Given the description of an element on the screen output the (x, y) to click on. 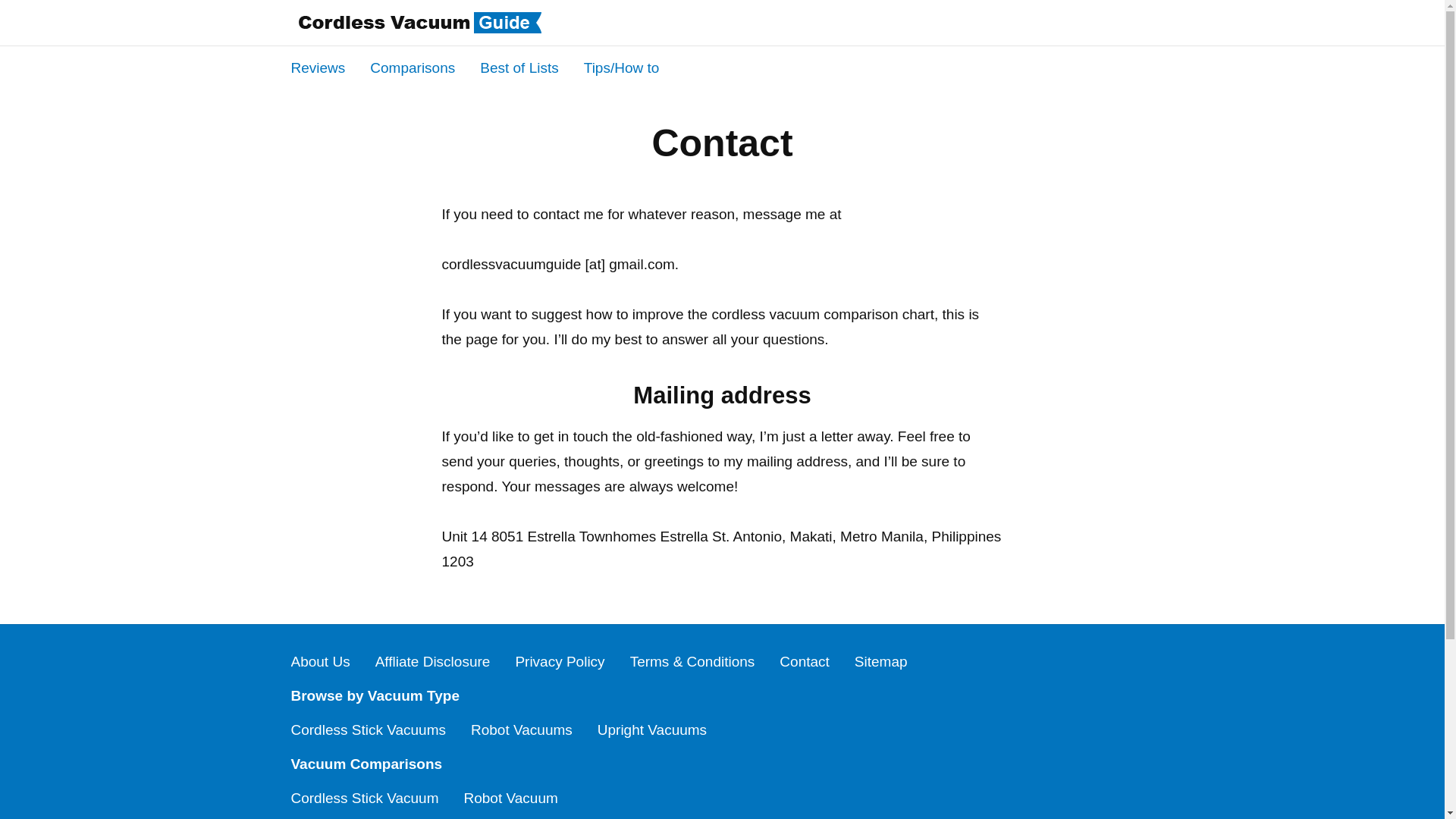
Robot Vacuum (510, 797)
Contact (803, 661)
Upright Vacuums (651, 729)
Affliate Disclosure (432, 661)
Best of Lists (519, 67)
About Us (320, 661)
Cordless Stick Vacuums (368, 729)
Reviews (318, 67)
Privacy Policy (559, 661)
Comparisons (411, 67)
